Given the description of an element on the screen output the (x, y) to click on. 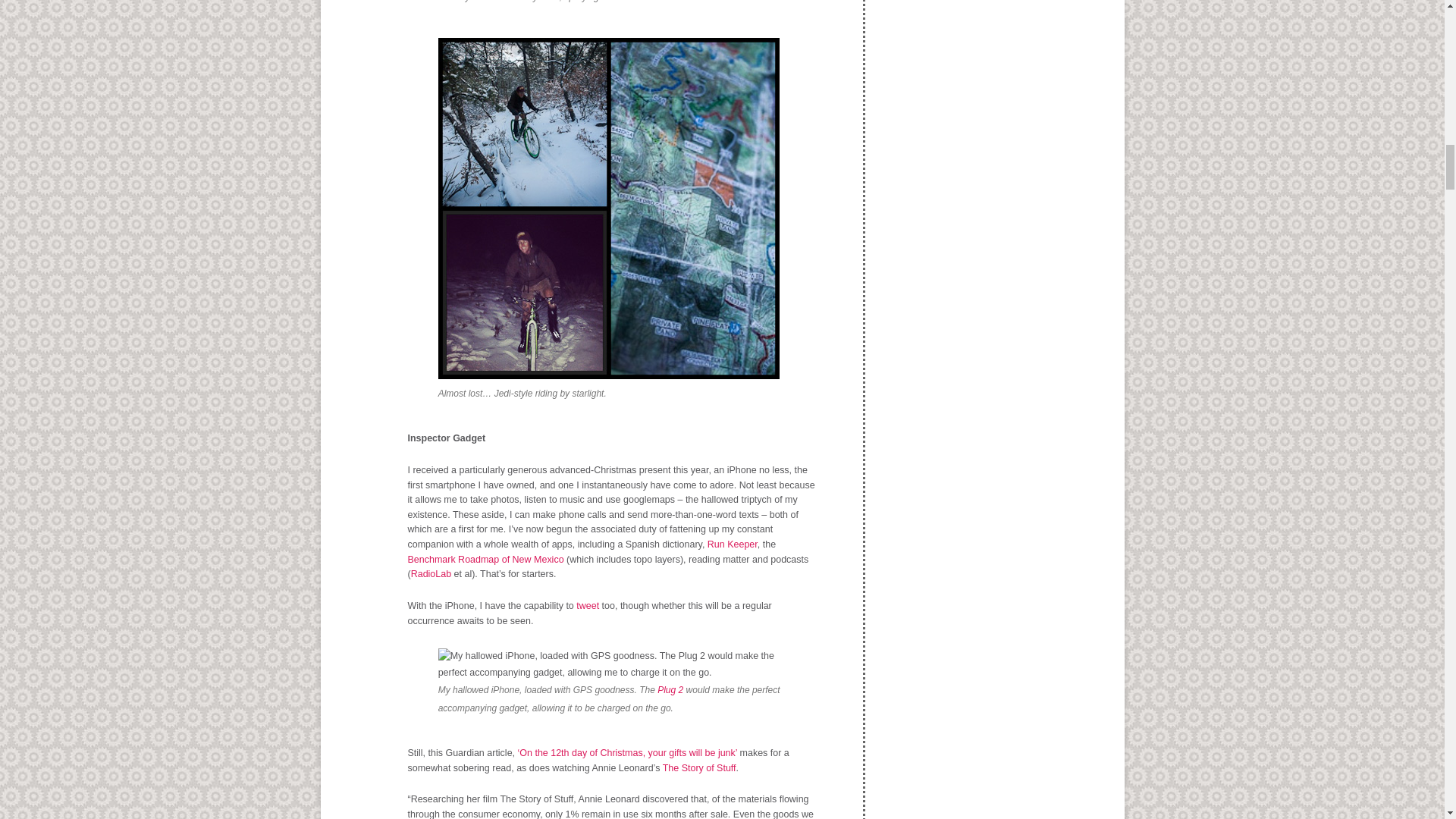
Run Keeper (732, 543)
Benchmark Roadmap of New Mexico (485, 559)
Plug 2 (670, 689)
The Story of Stuff (699, 767)
RadioLab (430, 573)
tweet (585, 605)
